Given the description of an element on the screen output the (x, y) to click on. 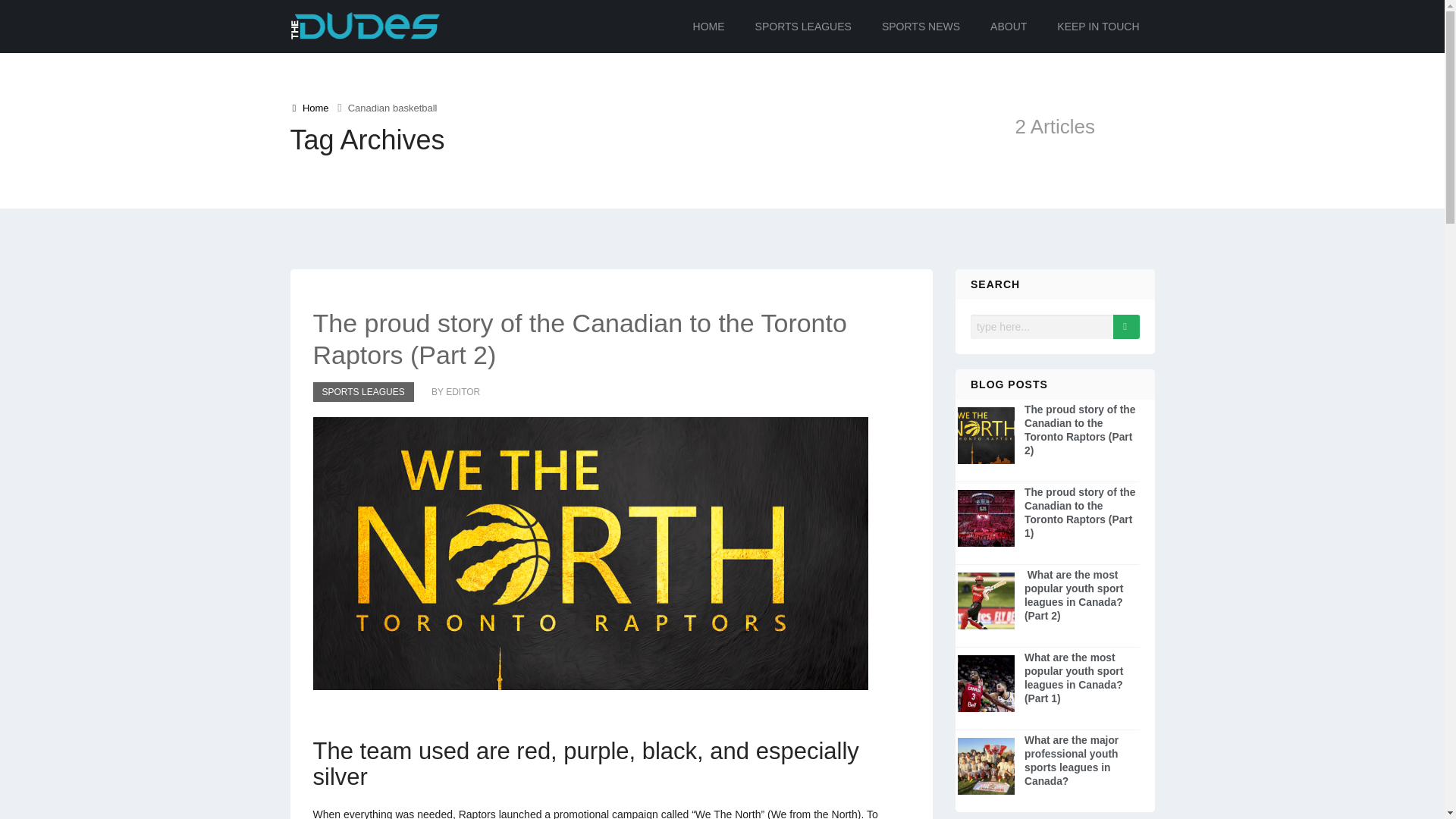
SPORTS NEWS (920, 26)
SPORTS LEAGUES (363, 392)
The Dudes - Everything about sports leagues in Canada (364, 26)
SPORTS LEAGUES (803, 26)
go to home (310, 107)
Written by editor (448, 392)
BY EDITOR (448, 392)
KEEP IN TOUCH (1097, 26)
The Dudes - Everything about sports leagues in Canada (364, 25)
HOME (708, 26)
Home (310, 107)
ABOUT (1008, 26)
type here... (1043, 326)
